Given the description of an element on the screen output the (x, y) to click on. 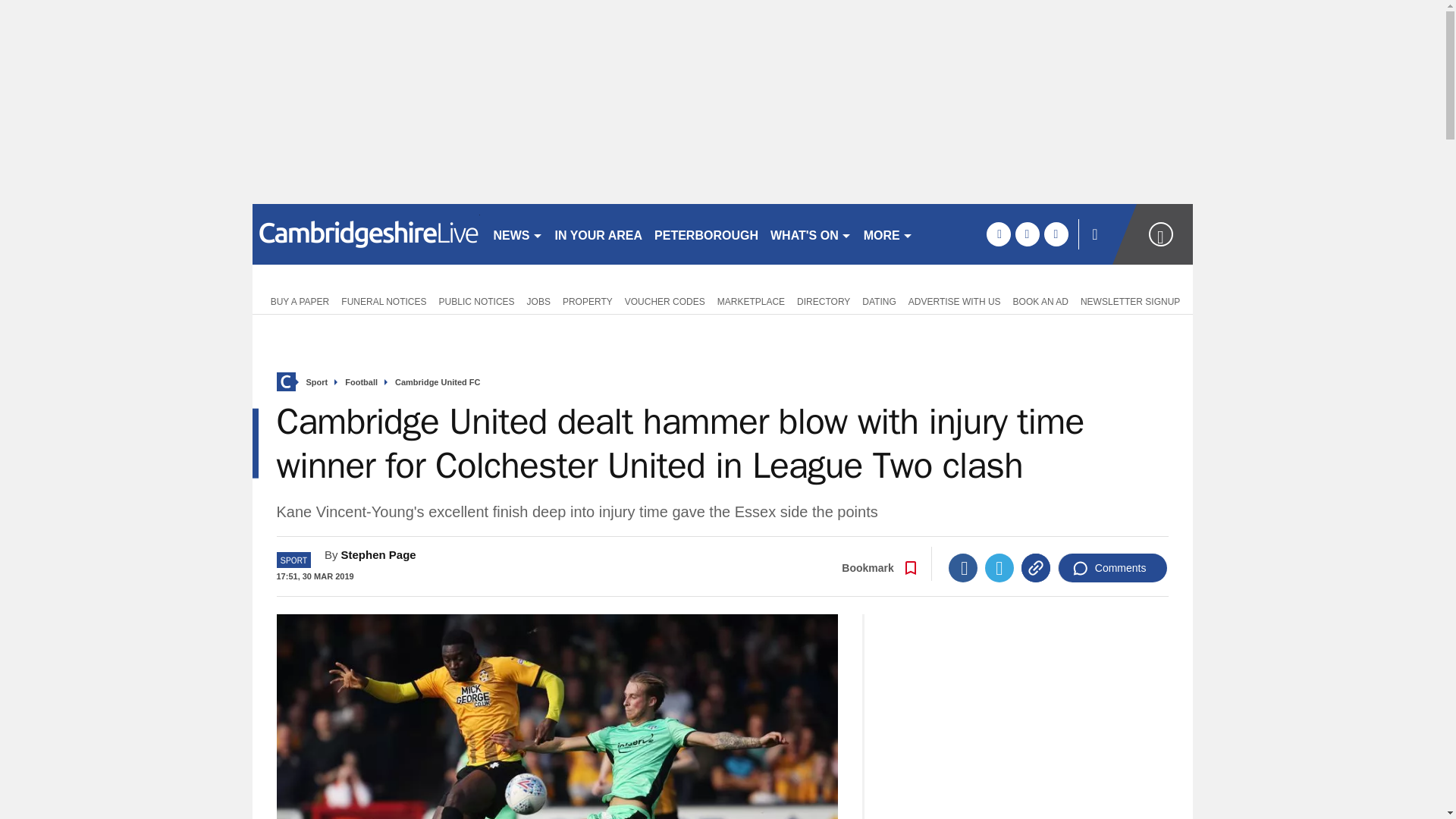
Comments (1112, 567)
Twitter (999, 567)
cambridgenews (365, 233)
instagram (1055, 233)
twitter (1026, 233)
NEWS (517, 233)
WHAT'S ON (810, 233)
PETERBOROUGH (705, 233)
MORE (887, 233)
facebook (997, 233)
